Given the description of an element on the screen output the (x, y) to click on. 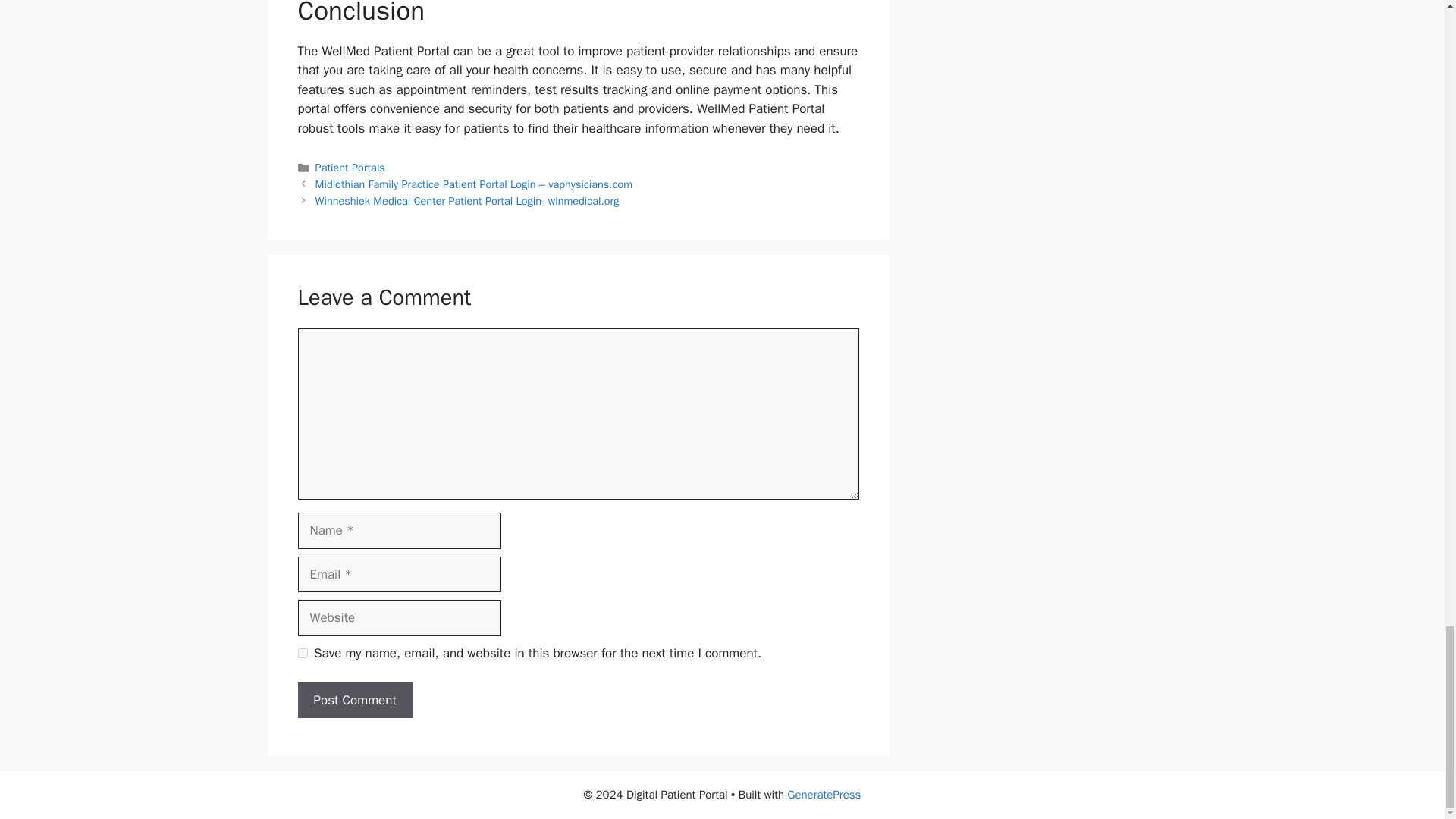
Previous (474, 183)
Post Comment (354, 700)
Patient Portals (350, 167)
Post Comment (354, 700)
yes (302, 653)
Next (467, 201)
